Given the description of an element on the screen output the (x, y) to click on. 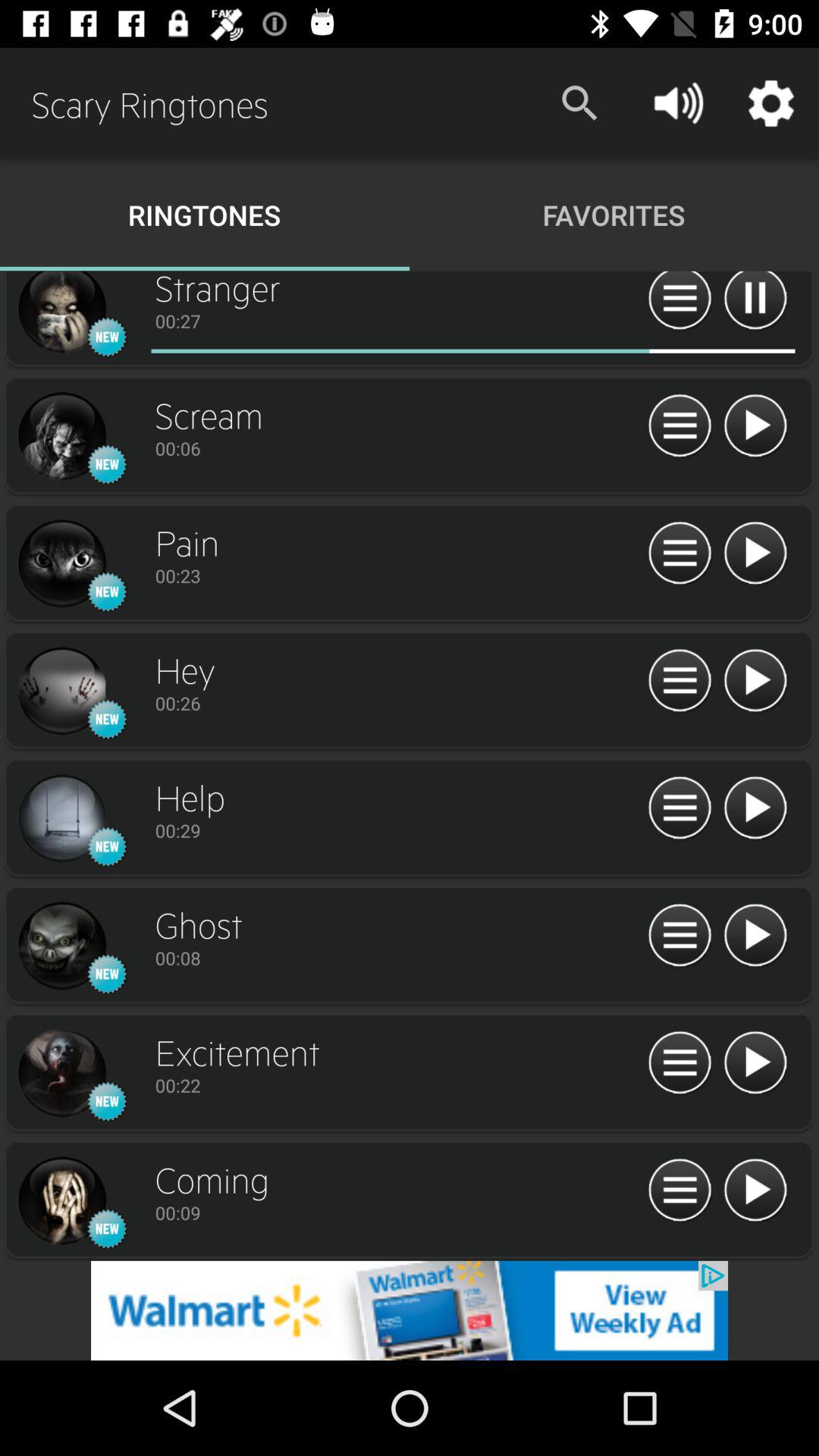
see ringtone details (679, 681)
